Given the description of an element on the screen output the (x, y) to click on. 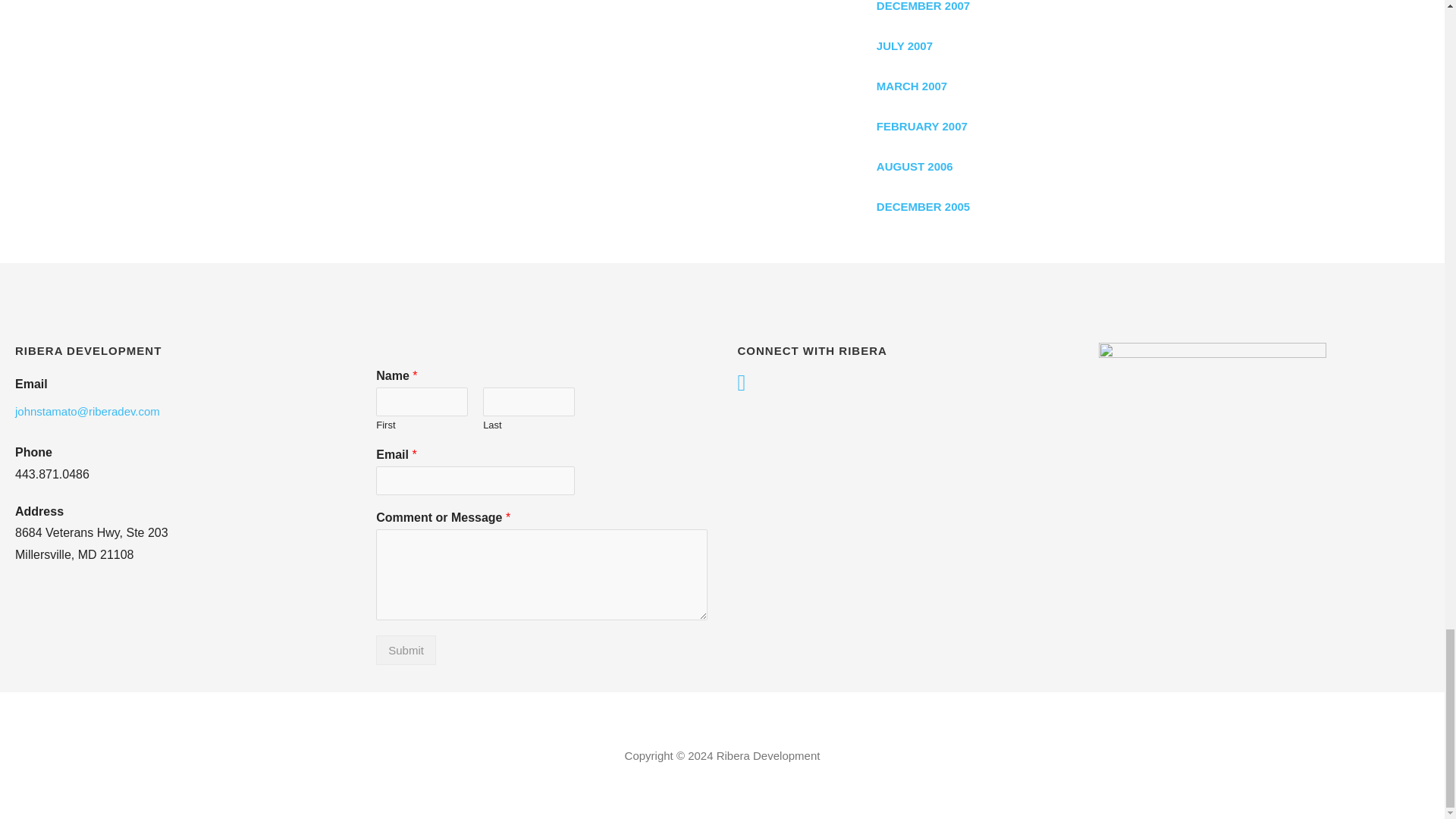
Visit Ribera Development on LinkedIn (740, 384)
